Given the description of an element on the screen output the (x, y) to click on. 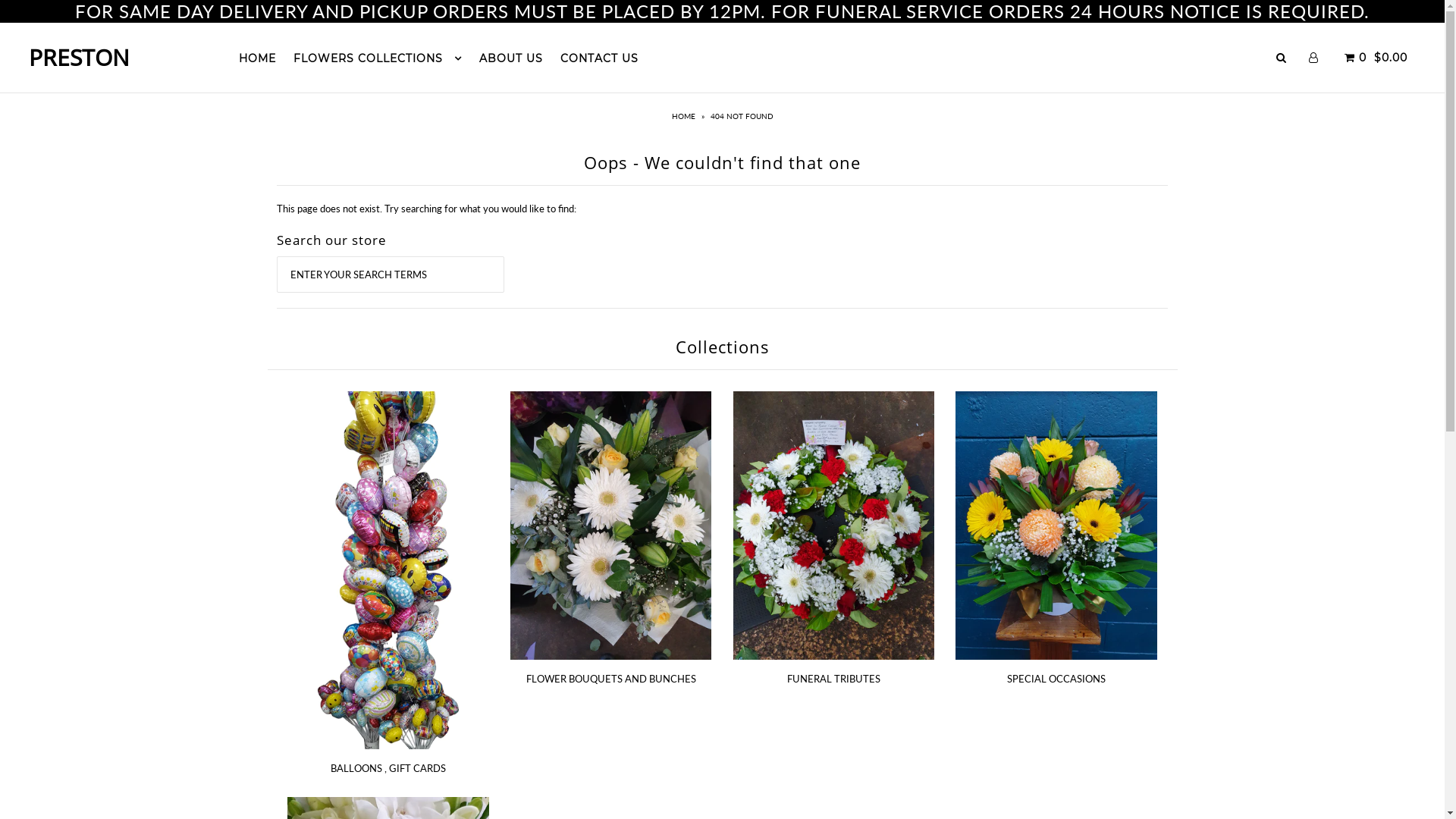
SPECIAL OCCASIONS Element type: text (1056, 678)
BALLOONS , GIFT CARDS Element type: text (387, 768)
FLOWERS COLLECTIONS Element type: text (377, 58)
PRESTON Element type: text (78, 57)
HOME Element type: text (257, 58)
  0  $0.00 Element type: text (1374, 57)
HOME Element type: text (685, 115)
ABOUT US Element type: text (510, 58)
FUNERAL TRIBUTES Element type: text (833, 678)
CONTACT US Element type: text (599, 58)
FLOWER BOUQUETS AND BUNCHES Element type: text (611, 678)
